Given the description of an element on the screen output the (x, y) to click on. 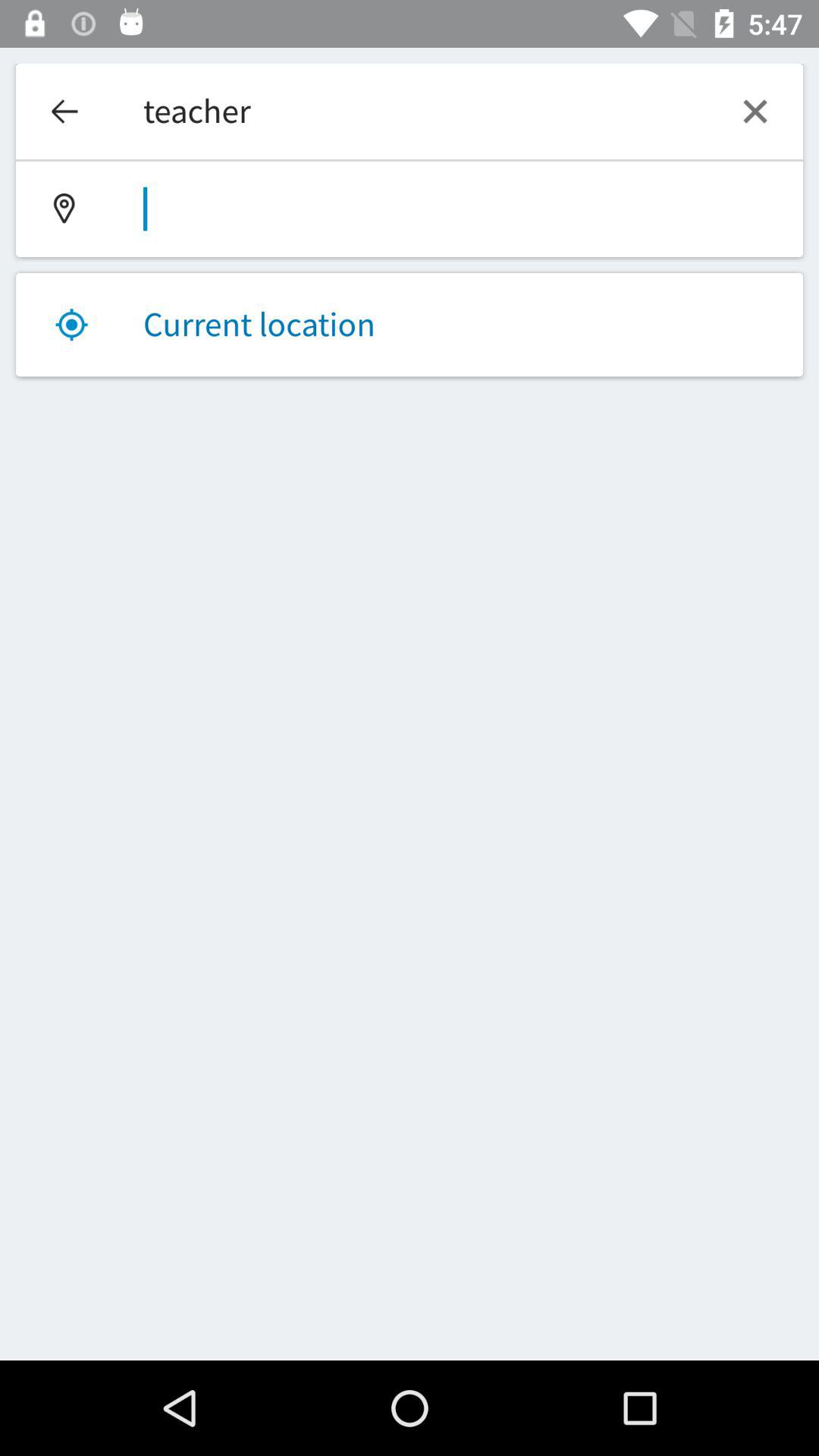
press the icon above the current location icon (409, 209)
